Given the description of an element on the screen output the (x, y) to click on. 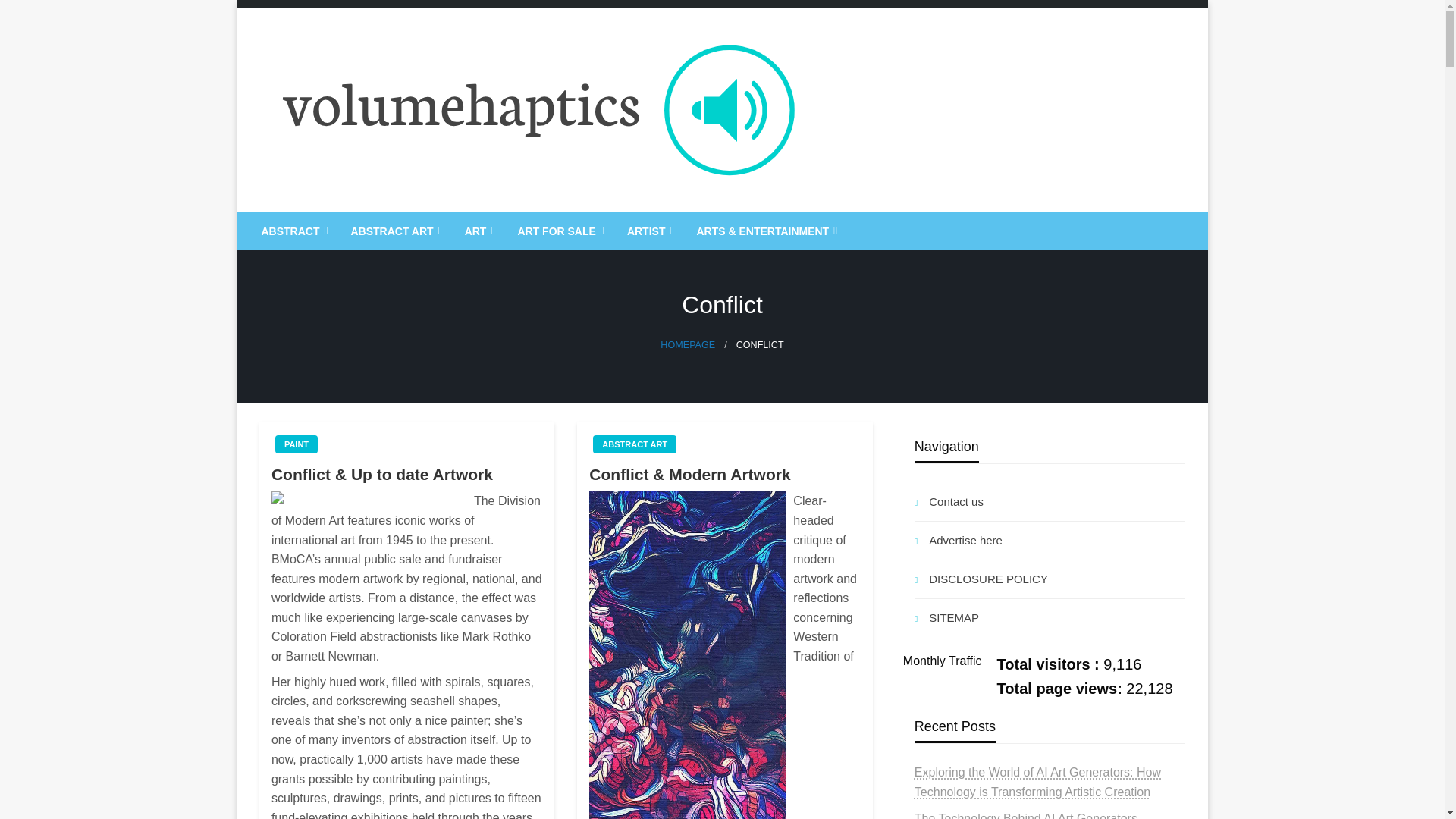
ABSTRACT ART (394, 231)
ARTIST (649, 231)
ART (478, 231)
Homepage (687, 344)
ART FOR SALE (557, 231)
ABSTRACT (292, 231)
Volumehaptics (362, 223)
